Given the description of an element on the screen output the (x, y) to click on. 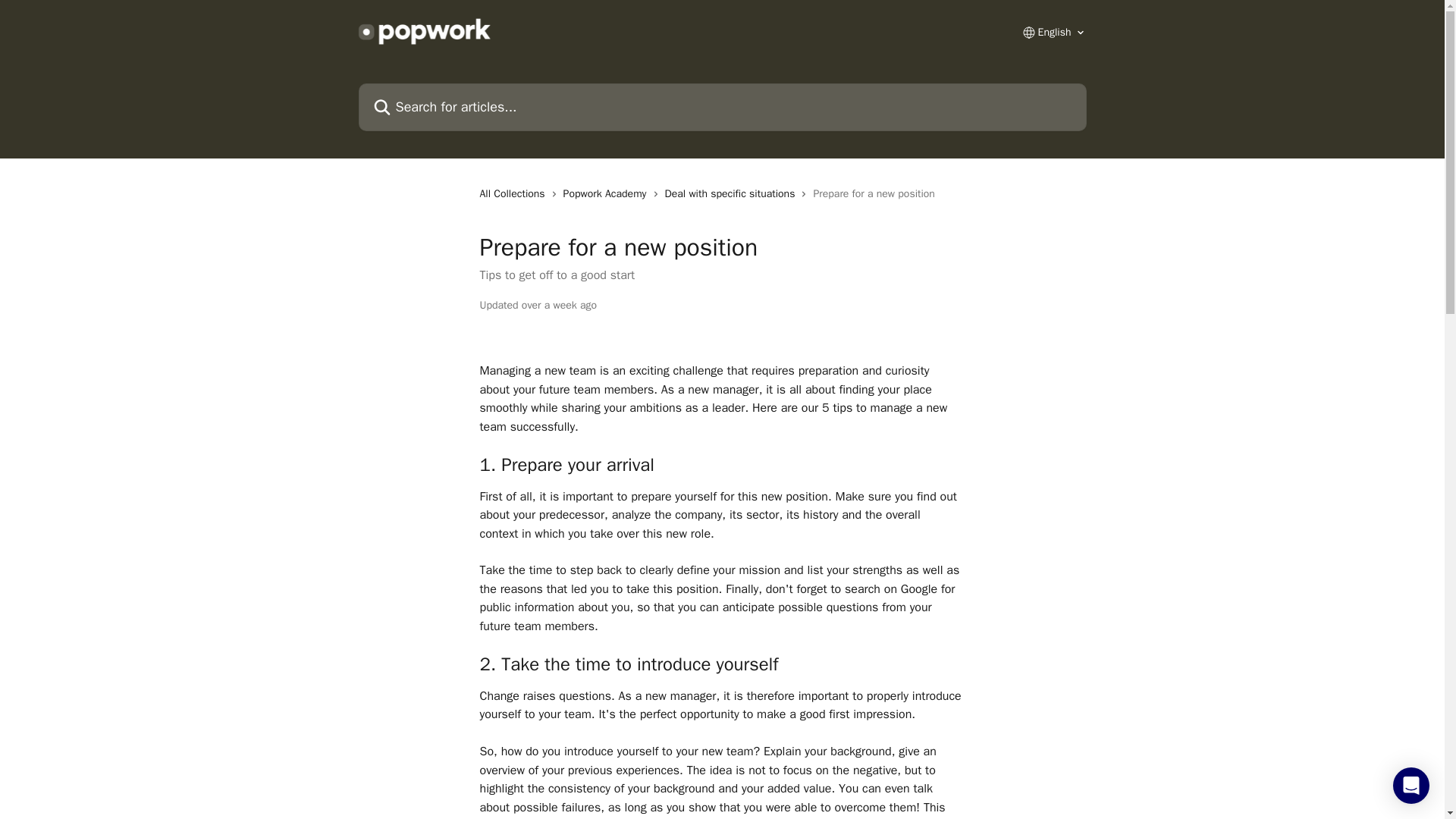
Popwork Academy (607, 193)
All Collections (514, 193)
Deal with specific situations (733, 193)
